Given the description of an element on the screen output the (x, y) to click on. 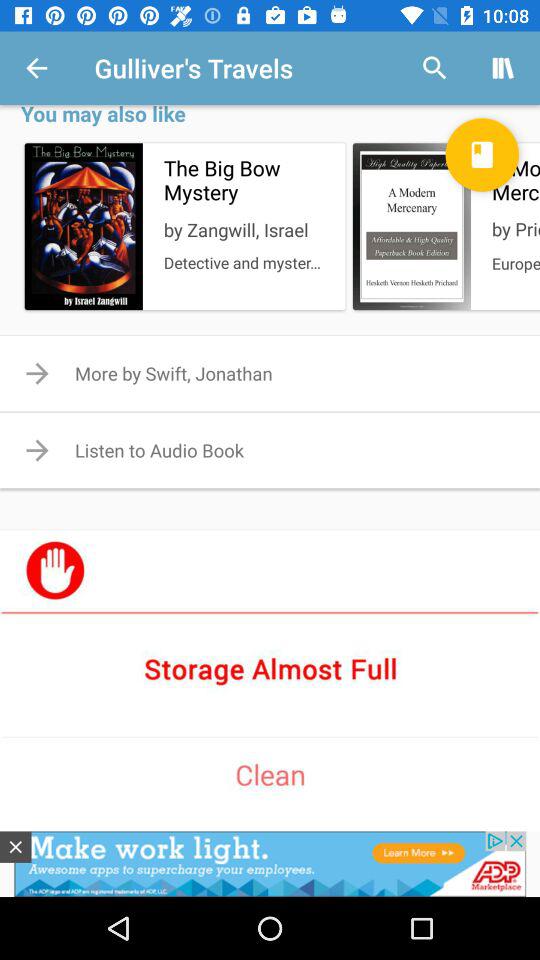
go to clean storage (270, 668)
